Given the description of an element on the screen output the (x, y) to click on. 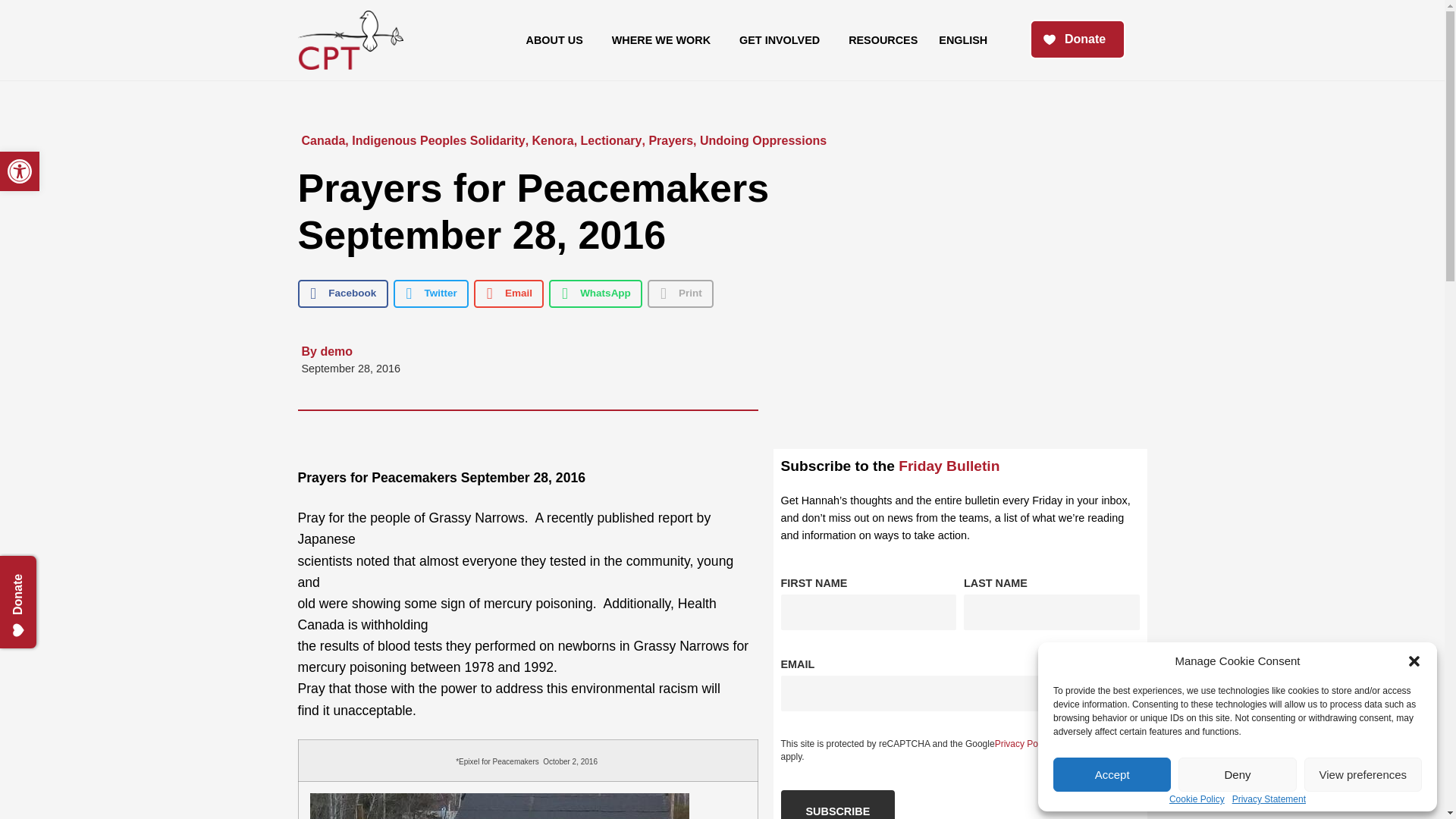
Accessibility Tools (19, 170)
Deny (1236, 774)
Cookie Policy (1196, 799)
Accept (1111, 774)
Persistent Donate Button (48, 573)
View preferences (1363, 774)
Accessibility Tools (19, 170)
Donate Button (1076, 40)
ABOUT US (19, 170)
English (558, 39)
Privacy Statement (962, 39)
